Given the description of an element on the screen output the (x, y) to click on. 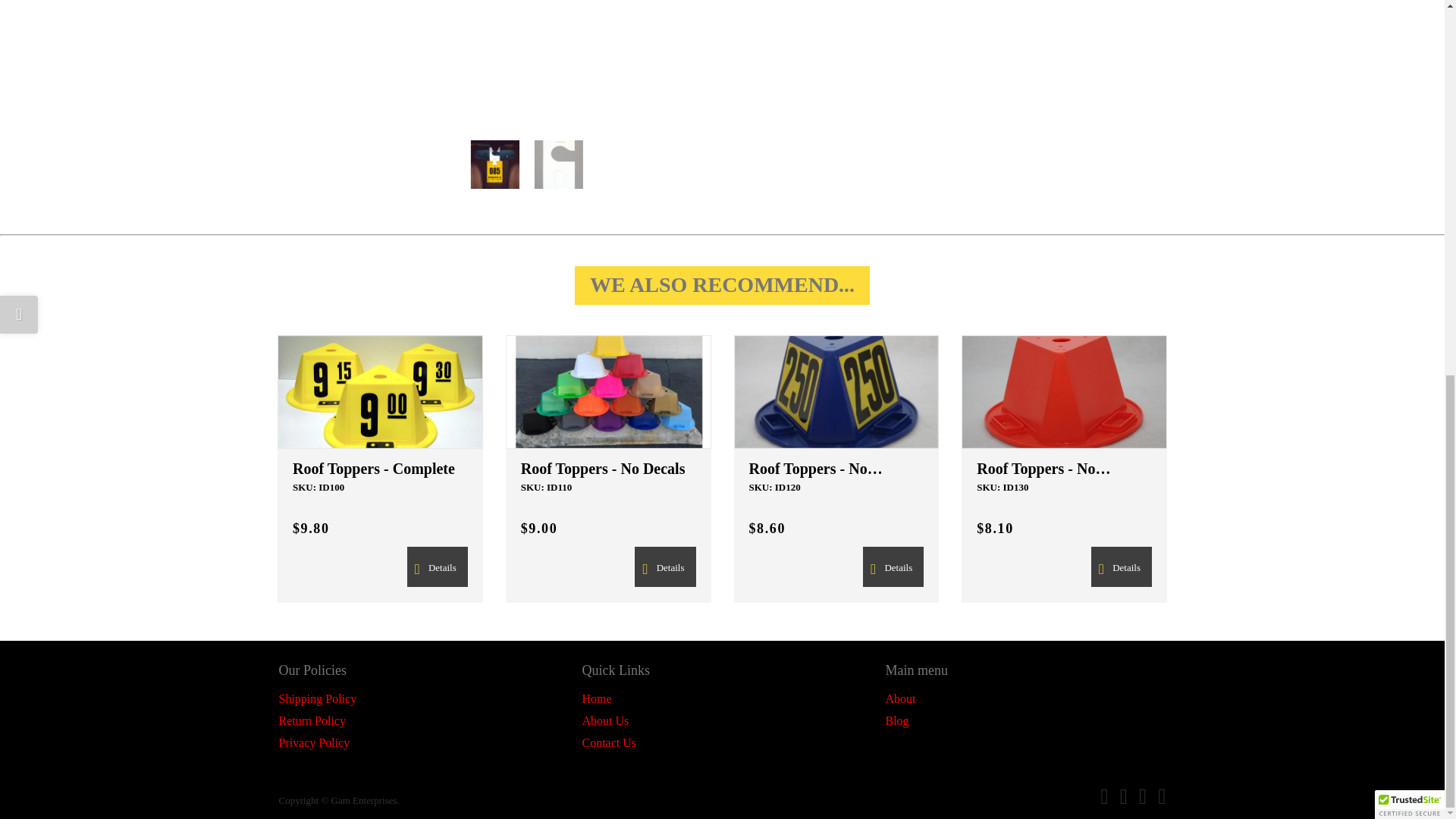
Details (1120, 567)
Details (664, 567)
Details (1120, 567)
Details (437, 567)
Roof Toppers - No Magnets, No Decals (1063, 468)
About (900, 698)
Contact Us (608, 742)
About Us (604, 720)
Details (437, 567)
Shipping Policy (317, 698)
Details (664, 567)
Details (893, 567)
Return Policy (312, 720)
Details (893, 567)
Roof Toppers - No Decals (608, 468)
